Given the description of an element on the screen output the (x, y) to click on. 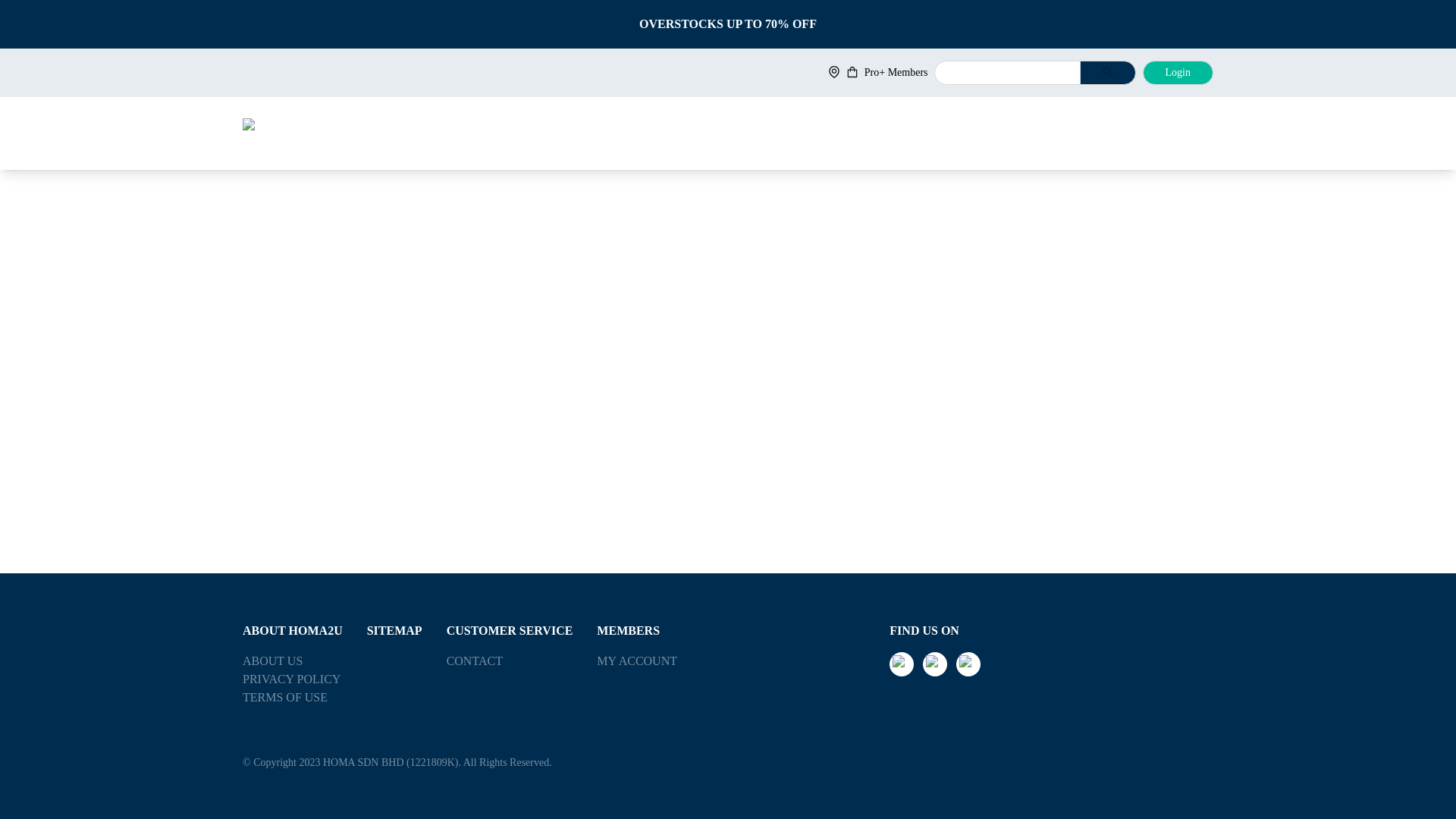
ABOUT US (292, 660)
MY ACCOUNT (636, 660)
CONTACT (509, 660)
PRIVACY POLICY (292, 679)
Login (1178, 71)
TERMS OF USE (292, 697)
Login (1177, 72)
